Given the description of an element on the screen output the (x, y) to click on. 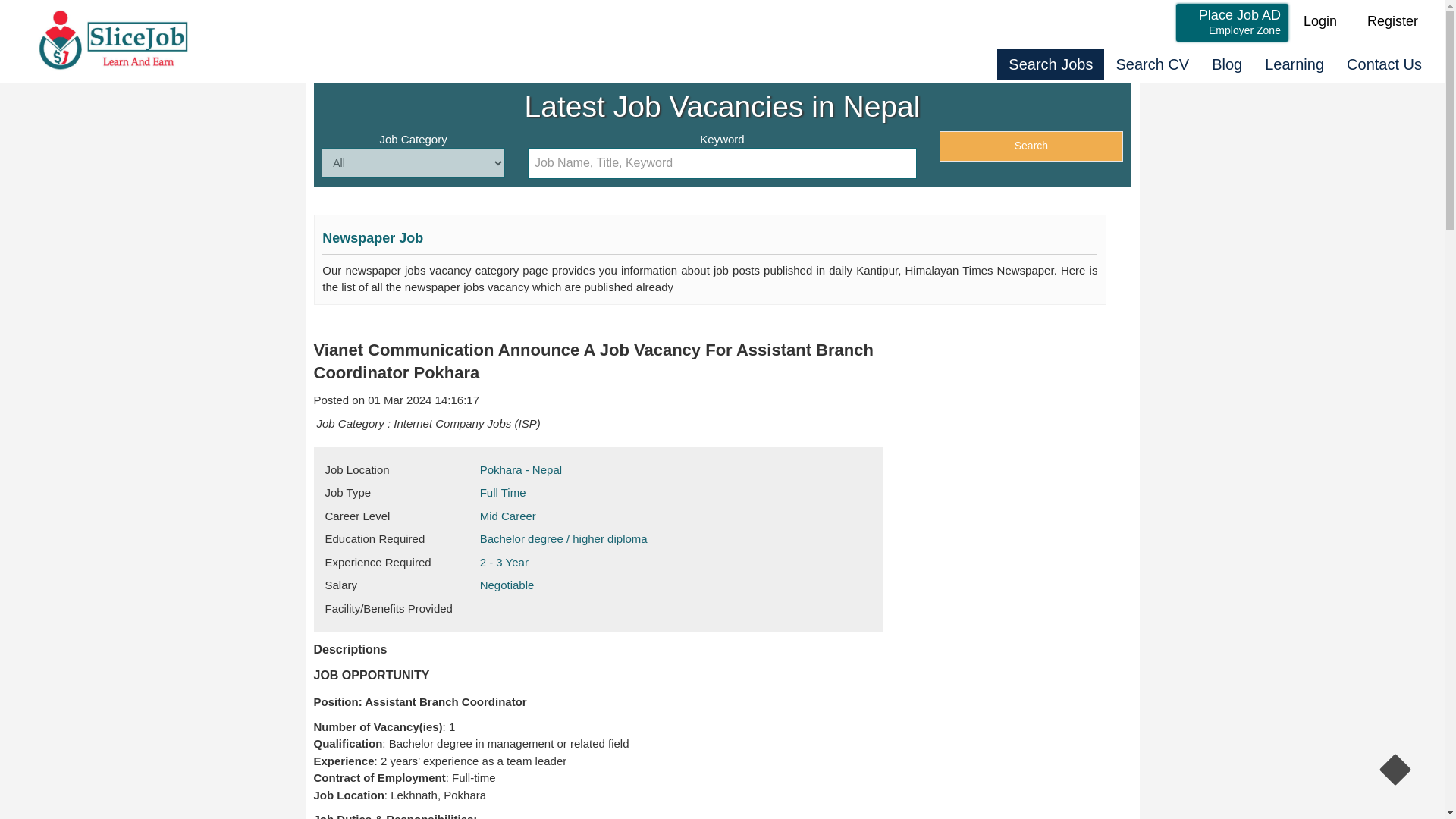
Search CV (1151, 64)
Learning (1294, 64)
Search (1030, 146)
Search Jobs (1050, 64)
Login (1320, 20)
Register (1232, 23)
Search (1392, 20)
Blog (1030, 146)
Contact Us (1226, 64)
